Given the description of an element on the screen output the (x, y) to click on. 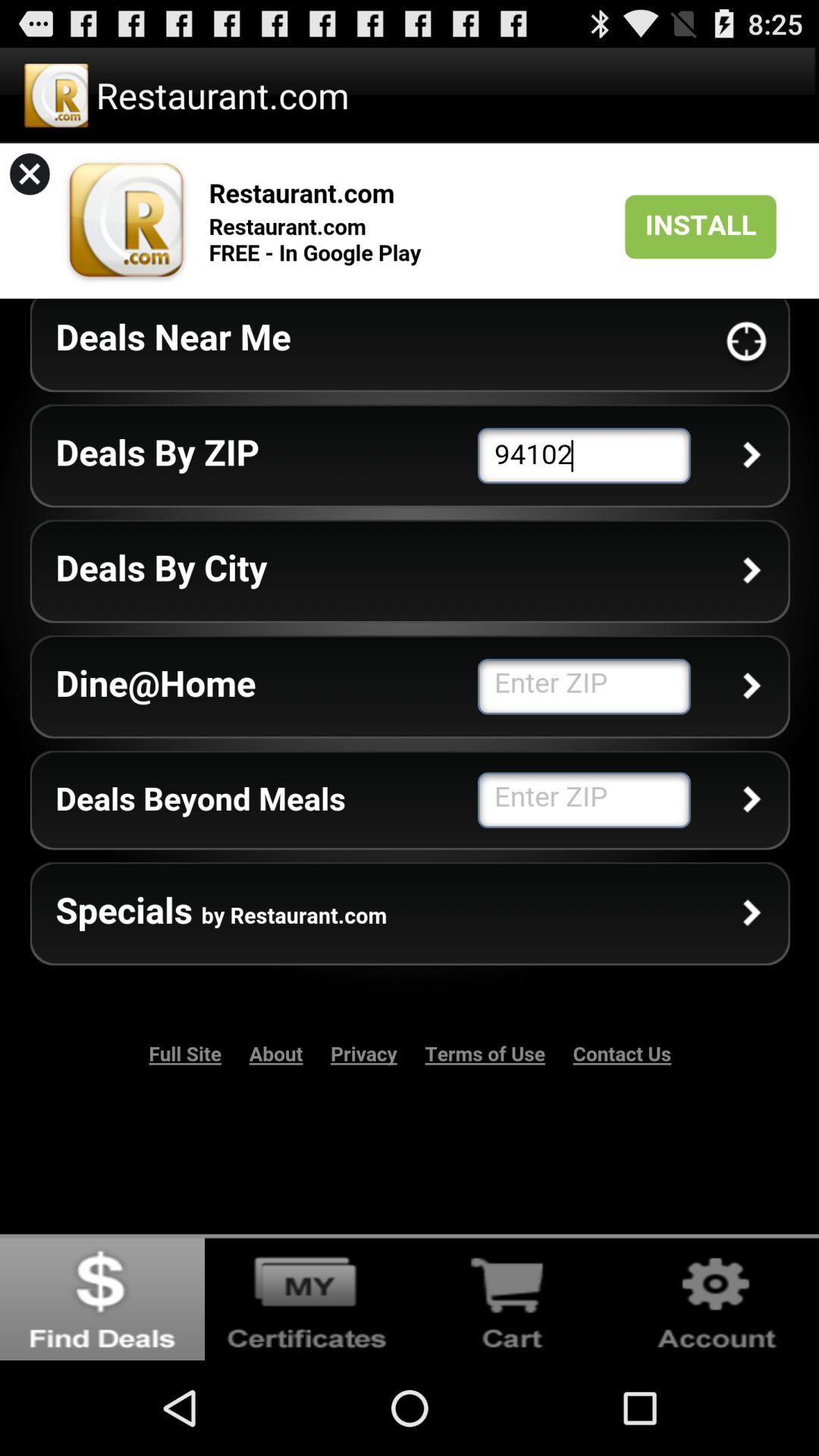
cart box (511, 1297)
